Given the description of an element on the screen output the (x, y) to click on. 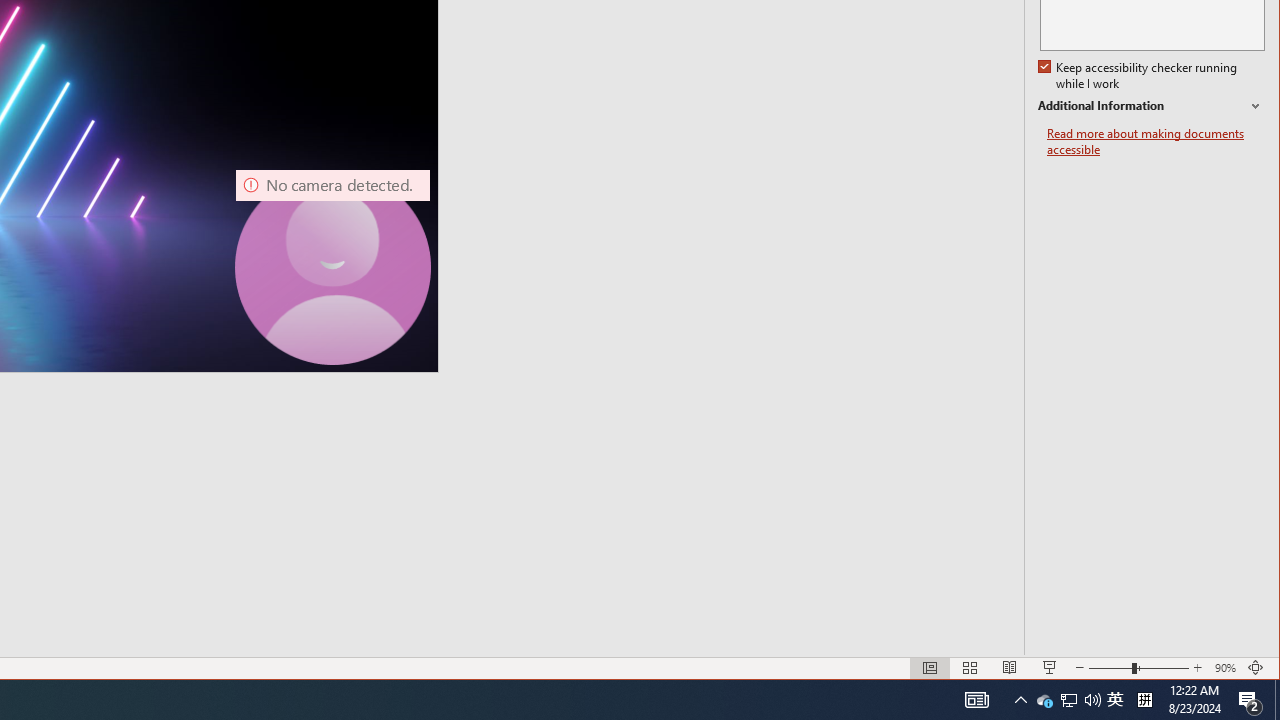
Camera 7, No camera detected. (333, 267)
Zoom 90% (1225, 668)
